Given the description of an element on the screen output the (x, y) to click on. 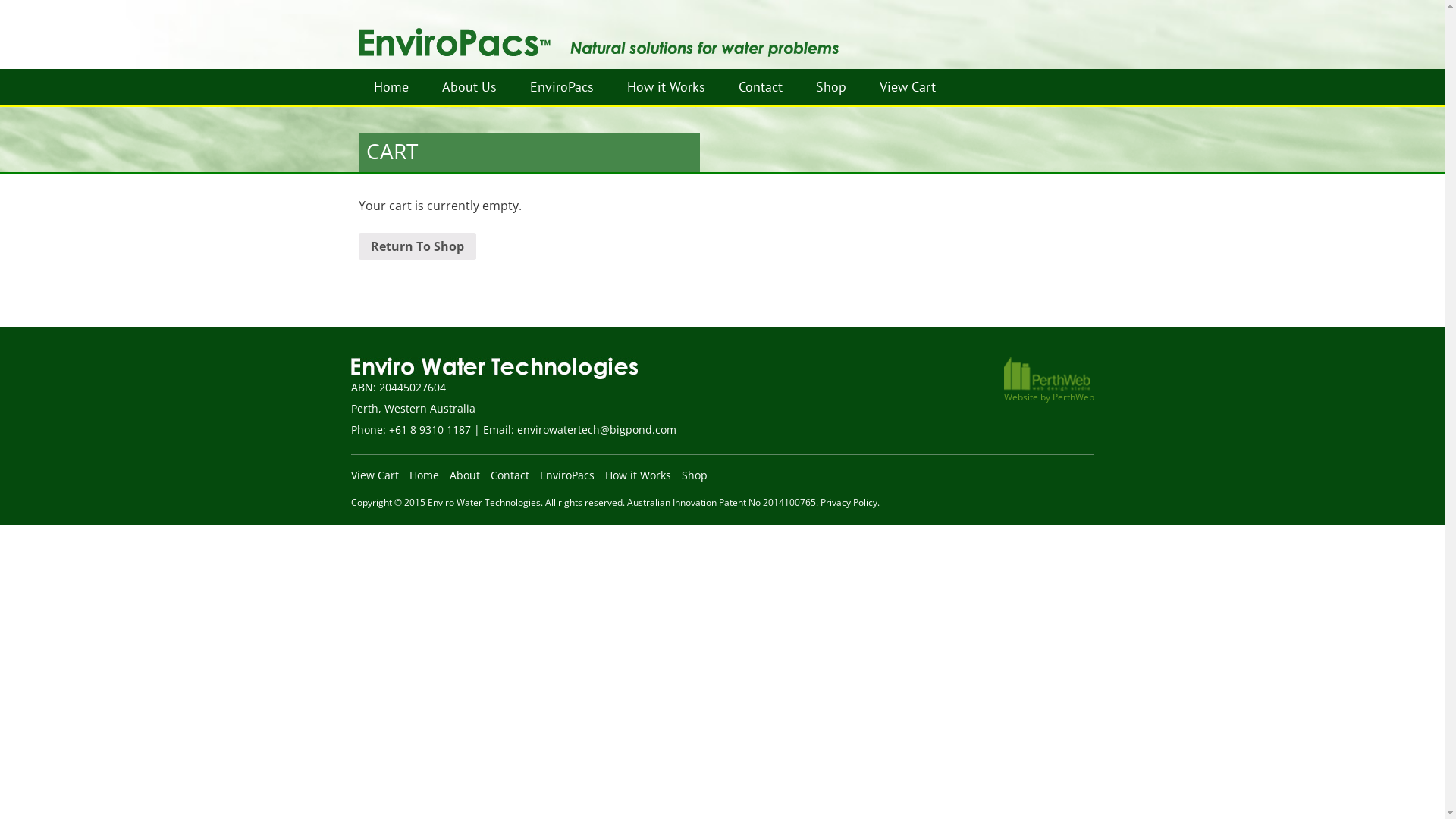
Home Element type: text (390, 87)
Enviropacs Element type: hover (597, 33)
EnviroPacs Element type: text (566, 474)
View Cart Element type: text (374, 474)
EnviroPacs Element type: text (561, 87)
Skip to content Element type: text (357, 69)
EnviroPacs Element type: text (598, 123)
Shop Element type: text (830, 87)
View Cart Element type: text (907, 87)
Contact Element type: text (508, 474)
Contact Element type: text (760, 87)
Privacy Policy Element type: text (848, 501)
Shop Element type: text (883, 123)
About Us Element type: text (468, 87)
How it Works Element type: text (665, 87)
envirowatertech@bigpond.com Element type: text (596, 429)
How it Works Element type: text (638, 474)
Website by PerthWeb Element type: hover (1049, 380)
About Element type: text (463, 474)
Home Element type: text (424, 474)
Shop Element type: text (693, 474)
Return To Shop Element type: text (416, 246)
